Given the description of an element on the screen output the (x, y) to click on. 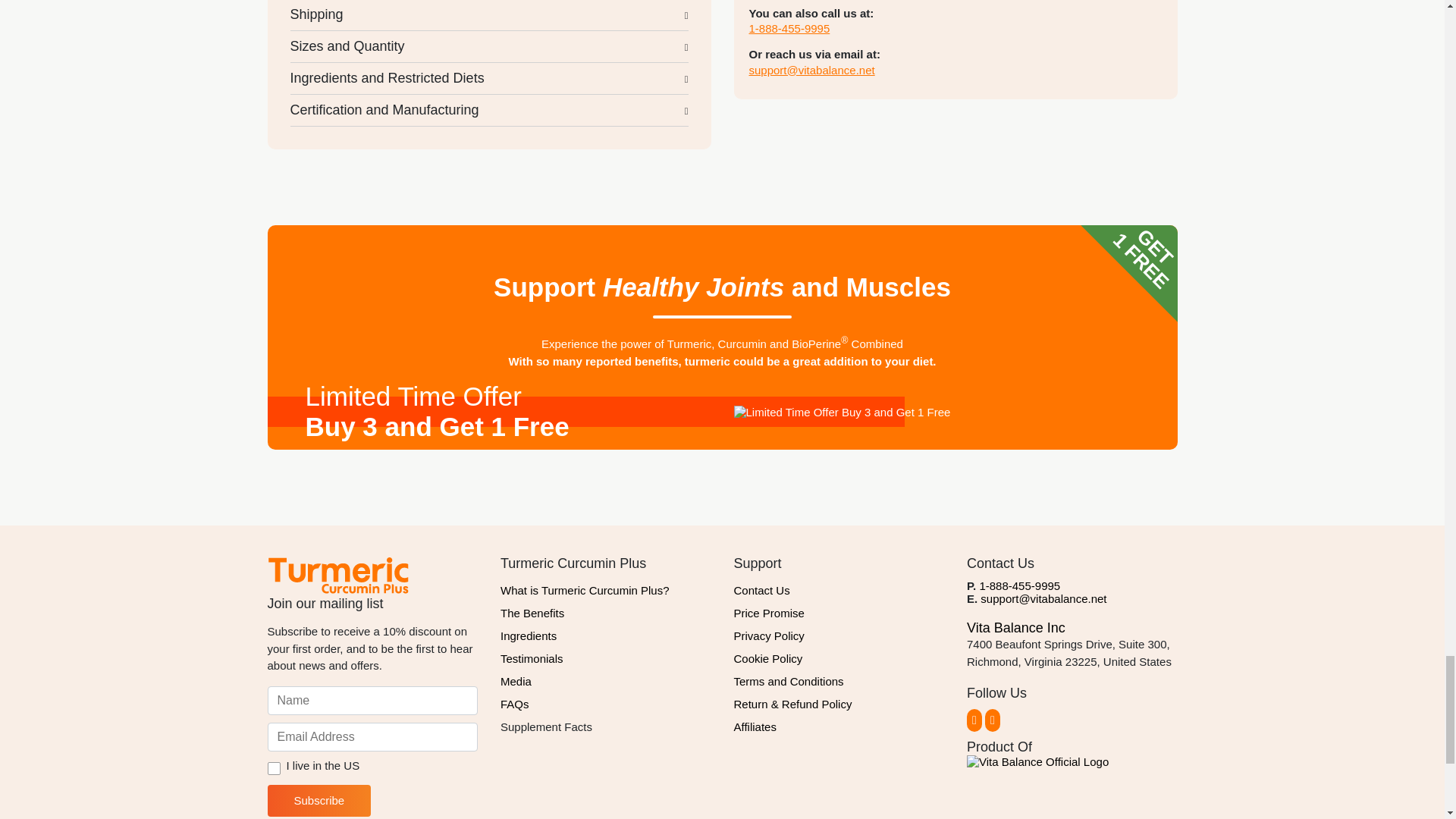
Contact Us (838, 590)
Ingredients (605, 635)
What is Turmeric Curcumin Plus? (605, 590)
Vita Balance Inc (1015, 627)
Price Promise (838, 612)
Affiliates (838, 726)
Subscribe (318, 800)
1-888-455-9995 (789, 28)
Vita Balance Official Logo (1037, 761)
Turmeric Curcumin Plus Official Logo (336, 574)
Privacy Policy (838, 635)
Media (605, 681)
Terms and Conditions (838, 681)
Testimonials (605, 658)
1-888-455-9995 (1018, 585)
